Given the description of an element on the screen output the (x, y) to click on. 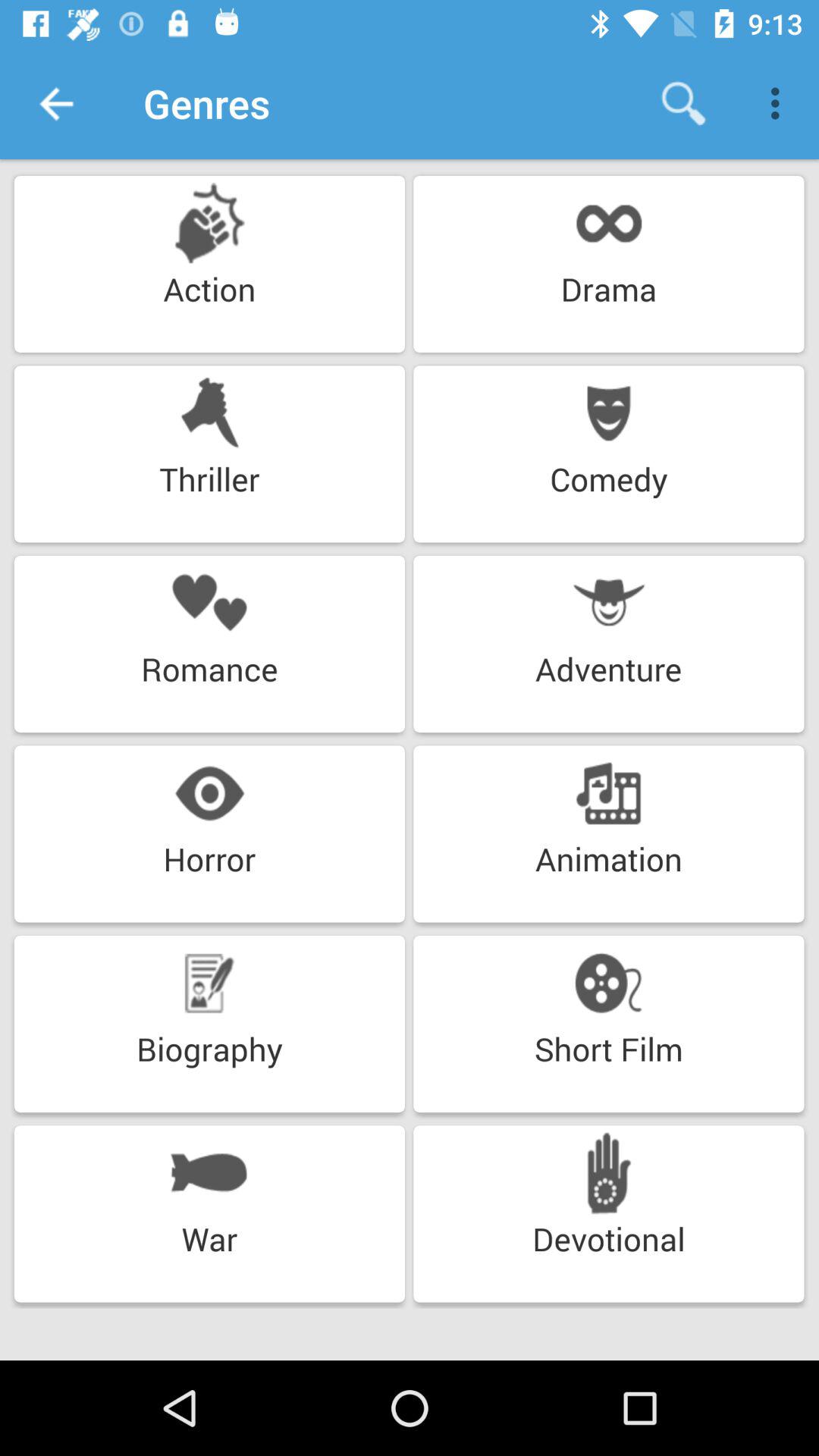
choose the icon next to genres  icon (55, 103)
